Given the description of an element on the screen output the (x, y) to click on. 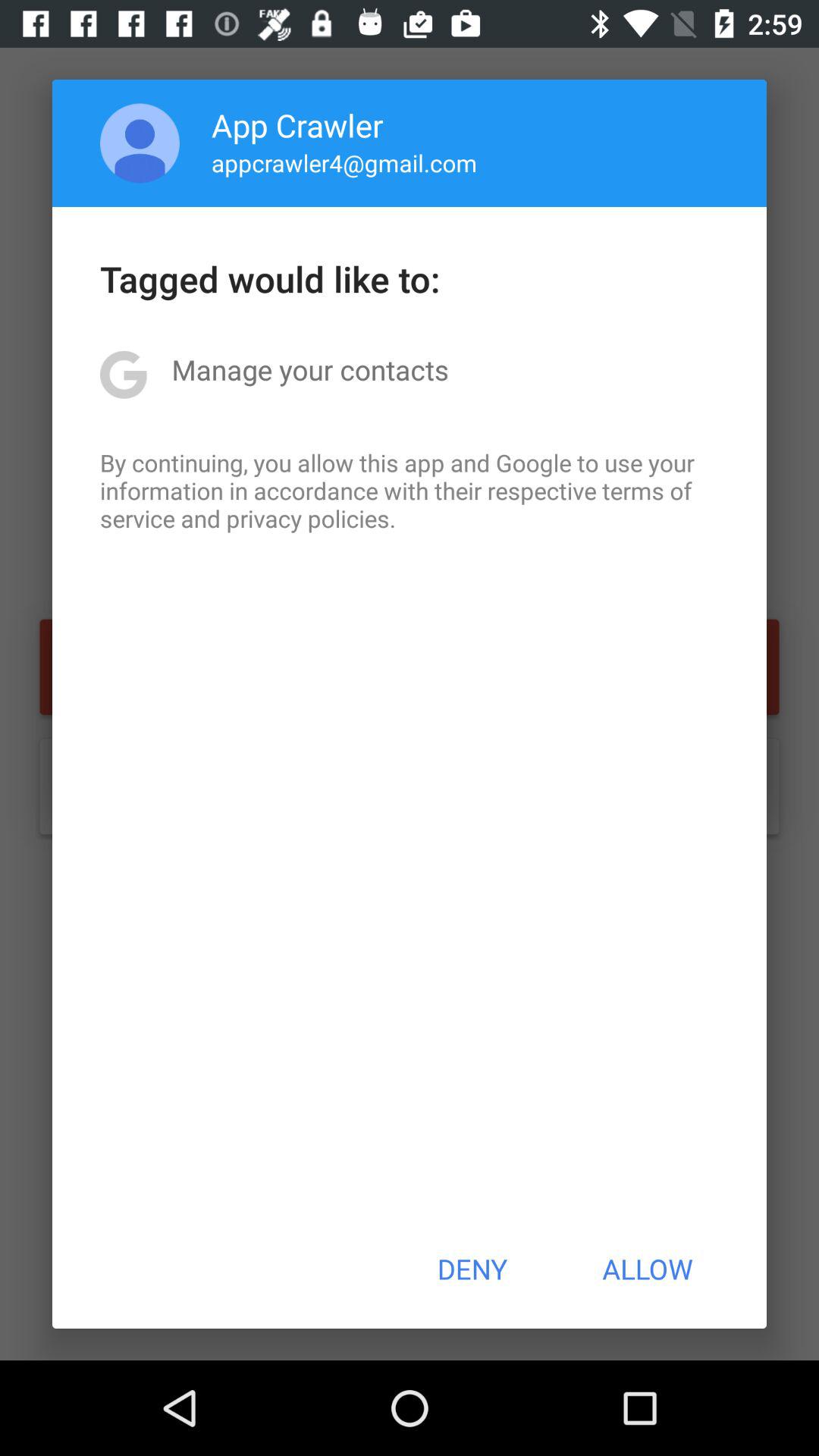
jump until deny item (471, 1268)
